Given the description of an element on the screen output the (x, y) to click on. 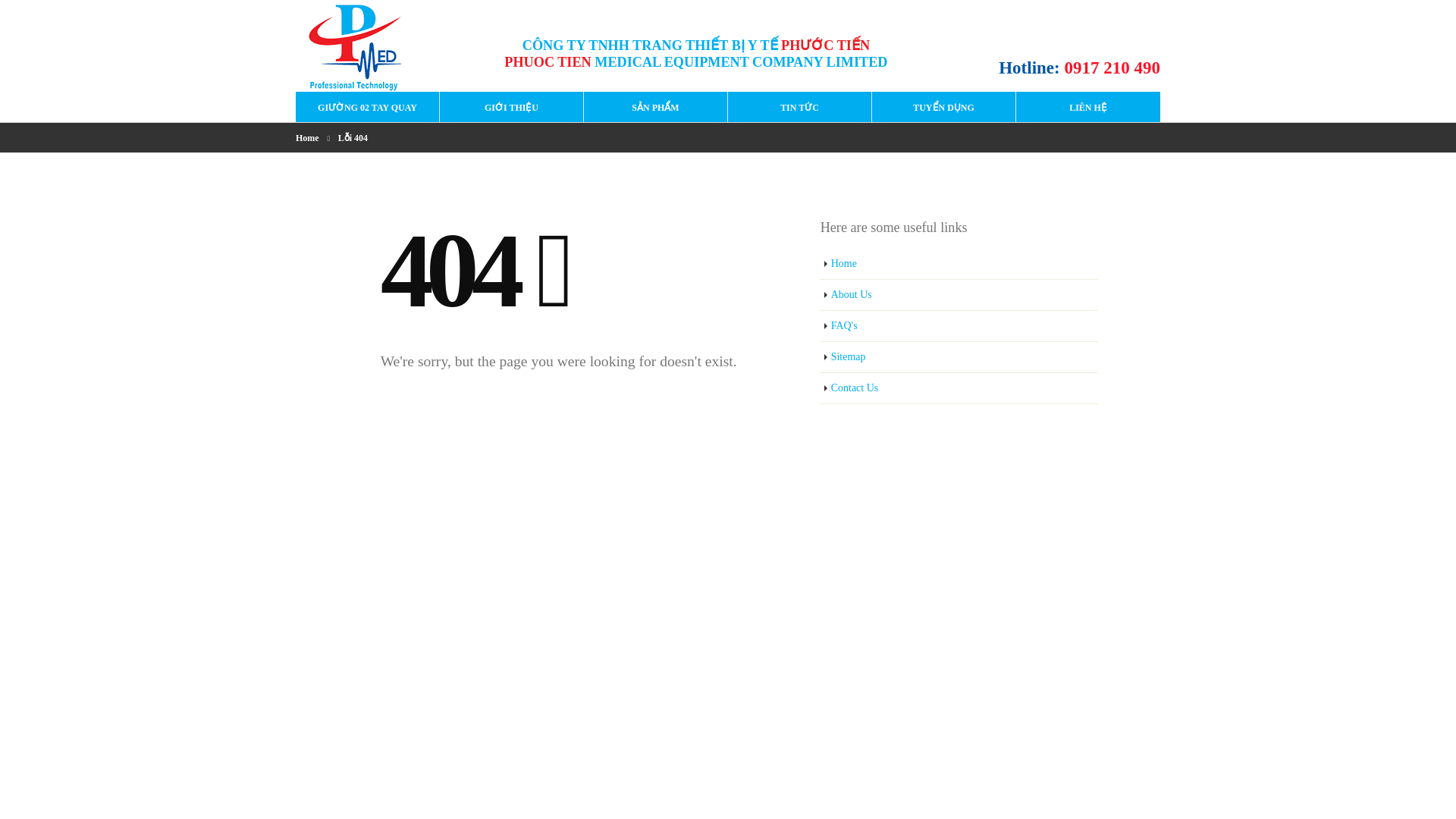
Sitemap (960, 357)
Home (306, 137)
Contact Us (960, 388)
Home (960, 264)
FAQ's (960, 326)
About Us (960, 295)
